Given the description of an element on the screen output the (x, y) to click on. 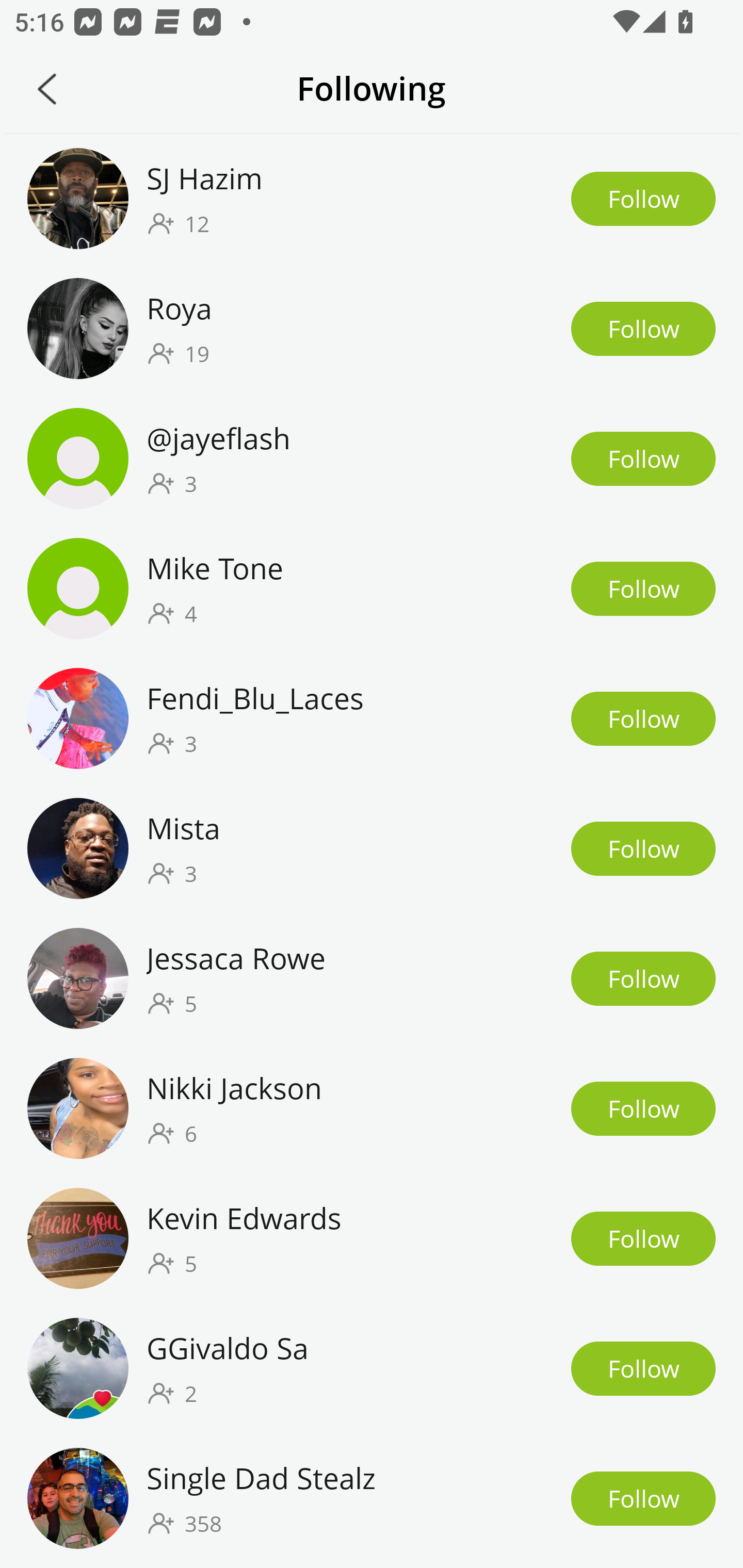
Back (46, 88)
SJ Hazim 12 Follow (371, 198)
Follow (643, 198)
Roya 19 Follow (371, 328)
Follow (643, 328)
@jayeflash 3 Follow (371, 458)
Follow (643, 458)
Mike Tone 4 Follow (371, 588)
Follow (643, 588)
Fendi_Blu_Laces 3 Follow (371, 718)
Follow (643, 718)
Mista 3 Follow (371, 849)
Follow (643, 848)
Jessaca Rowe 5 Follow (371, 978)
Follow (643, 978)
Nikki Jackson 6 Follow (371, 1107)
Follow (643, 1108)
Kevin Edwards 5 Follow (371, 1237)
Follow (643, 1238)
GGivaldo Sa 2 Follow (371, 1368)
Follow (643, 1368)
Single Dad Stealz 358 Follow (371, 1498)
Follow (643, 1497)
